Given the description of an element on the screen output the (x, y) to click on. 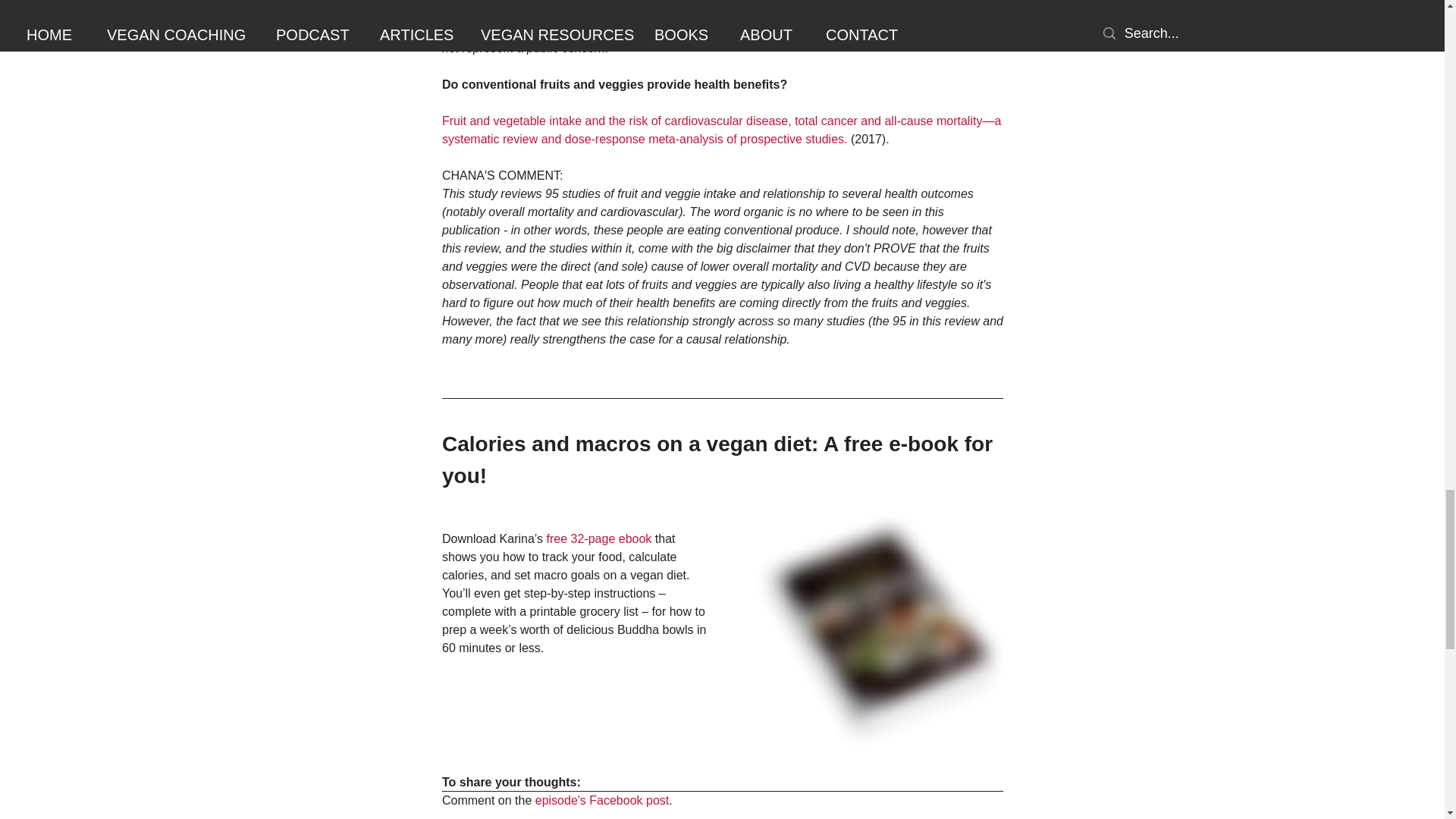
free 32-page ebook (598, 538)
episode's Facebook post (601, 799)
